Given the description of an element on the screen output the (x, y) to click on. 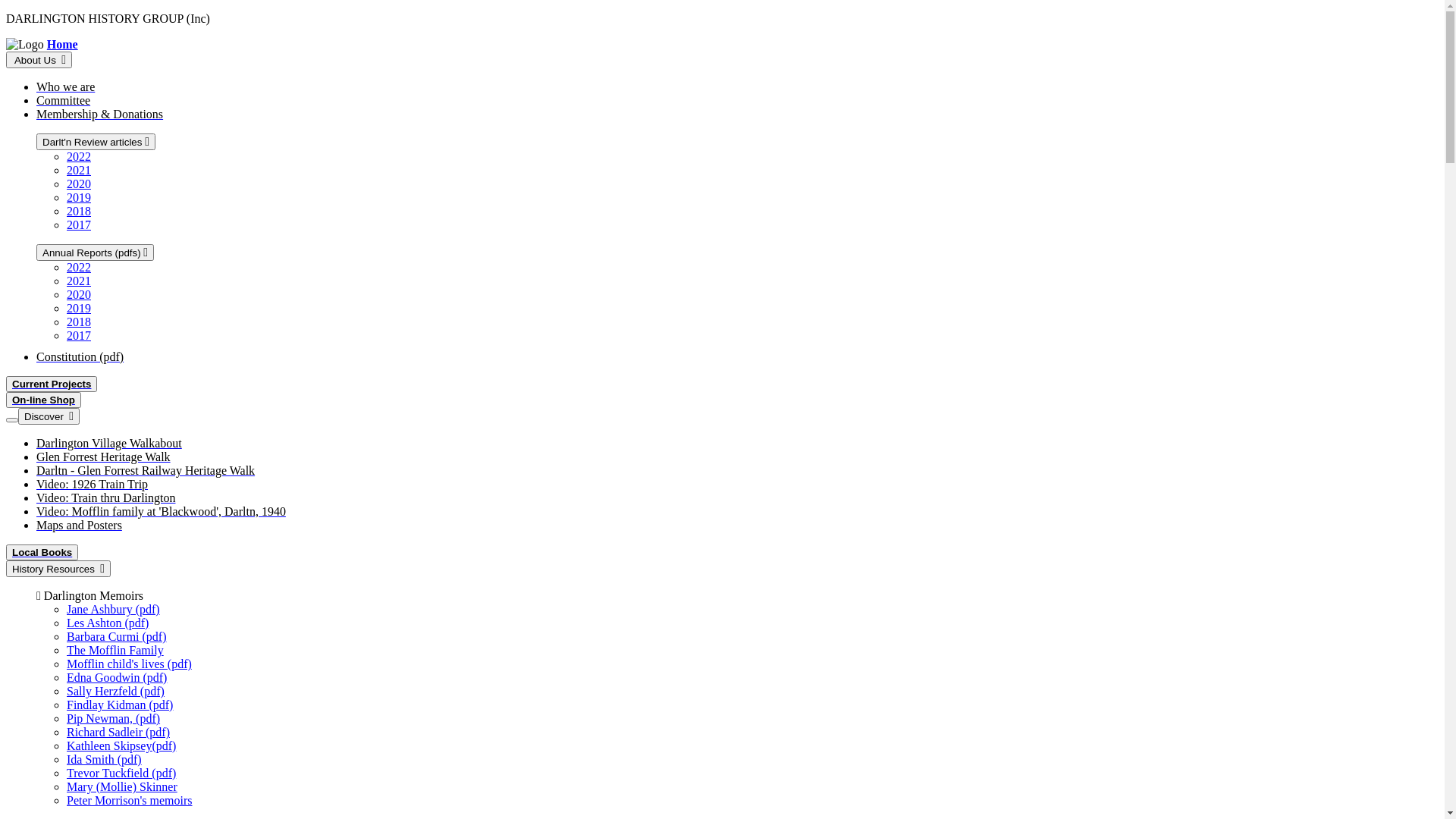
2022 Element type: text (78, 266)
Mofflin child's lives (pdf) Element type: text (128, 663)
2021 Element type: text (78, 169)
2017 Element type: text (78, 224)
2019 Element type: text (78, 197)
2019 Element type: text (78, 307)
Who we are Element type: text (65, 86)
Les Ashton (pdf) Element type: text (107, 622)
On-line Shop Element type: text (43, 399)
Video: Mofflin family at 'Blackwood', Darltn, 1940 Element type: text (160, 511)
Home Element type: text (62, 43)
Local Books Element type: text (42, 552)
Membership & Donations Element type: text (99, 113)
On-line Shop Element type: text (43, 399)
Constitution (pdf) Element type: text (79, 356)
Richard Sadleir (pdf) Element type: text (117, 731)
2021 Element type: text (78, 280)
Video: Train thru Darlington Element type: text (105, 497)
Glen Forrest Heritage Walk Element type: text (103, 456)
History Resources   Element type: text (58, 568)
Annual Reports (pdfs)  Element type: text (94, 252)
Video: 1926 Train Trip Element type: text (91, 483)
2020 Element type: text (78, 294)
Maps and Posters Element type: text (79, 524)
Edna Goodwin (pdf) Element type: text (116, 677)
Darlt'n Review articles  Element type: text (95, 141)
Current Projects Element type: text (51, 384)
 About Us   Element type: text (39, 59)
Ida Smith (pdf) Element type: text (103, 759)
Discover   Element type: text (48, 415)
Pip Newman, (pdf) Element type: text (113, 718)
2017 Element type: text (78, 335)
Local Books Element type: text (42, 552)
Darlington Village Walkabout Element type: text (109, 442)
Kathleen Skipsey(pdf) Element type: text (120, 745)
Jane Ashbury (pdf) Element type: text (113, 608)
Findlay Kidman (pdf) Element type: text (119, 704)
Sally Herzfeld (pdf) Element type: text (115, 690)
Current Projects Element type: text (51, 383)
Barbara Curmi (pdf) Element type: text (116, 636)
Trevor Tuckfield (pdf) Element type: text (120, 772)
Peter Morrison's memoirs Element type: text (129, 799)
Committee Element type: text (63, 100)
Mary (Mollie) Skinner Element type: text (121, 786)
2018 Element type: text (78, 210)
The Mofflin Family Element type: text (114, 649)
2020 Element type: text (78, 183)
2018 Element type: text (78, 321)
2022 Element type: text (78, 156)
